Given the description of an element on the screen output the (x, y) to click on. 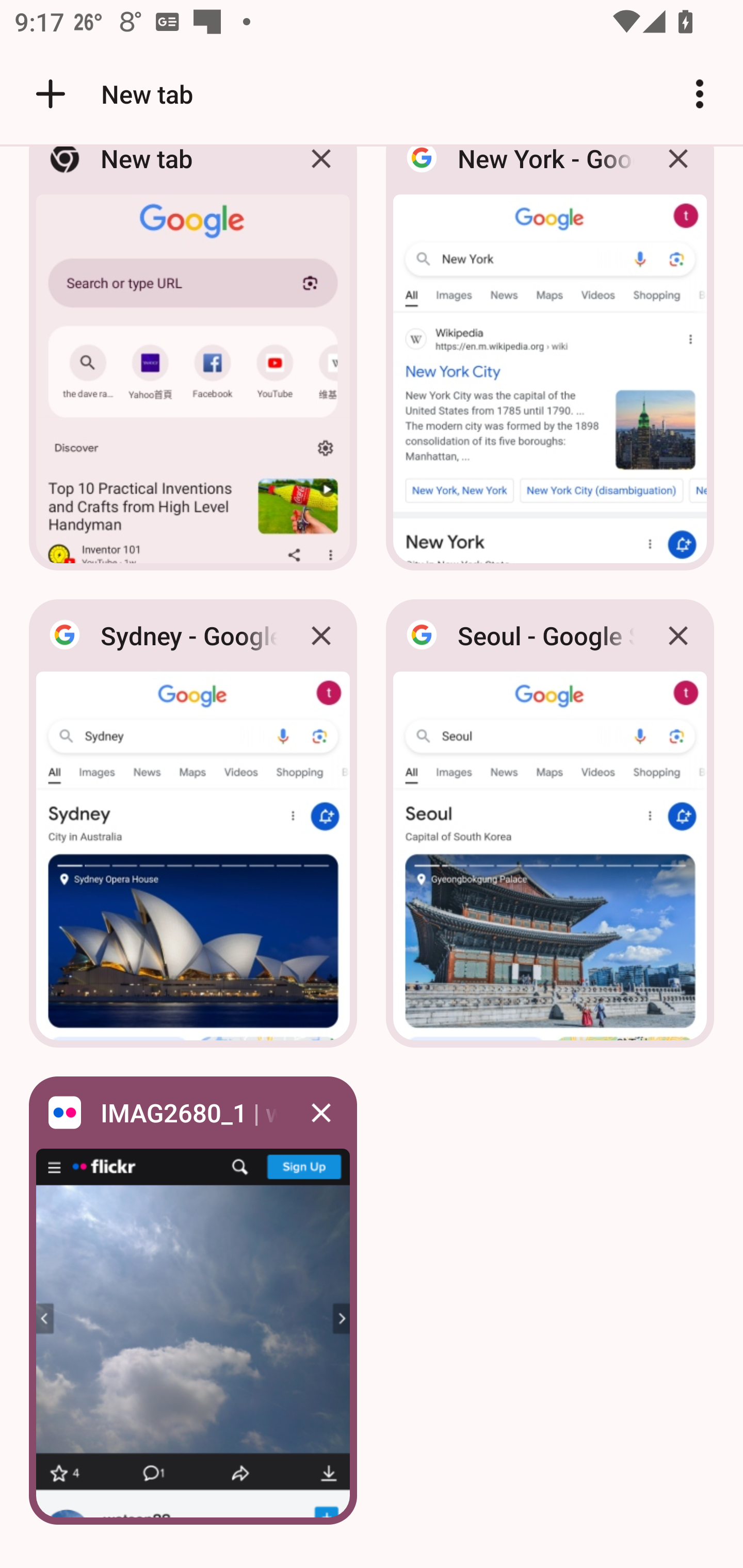
New tab (111, 93)
Customize and control Google Chrome (699, 93)
New tab New tab, tab Close New tab tab (192, 364)
Close New tab tab (320, 173)
Close New York - Google Search tab (677, 173)
Close Sydney - Google Search tab (320, 635)
Close Seoul - Google Search tab (677, 635)
Close IMAG2680_1 | watson88 | Flickr tab (320, 1112)
